Given the description of an element on the screen output the (x, y) to click on. 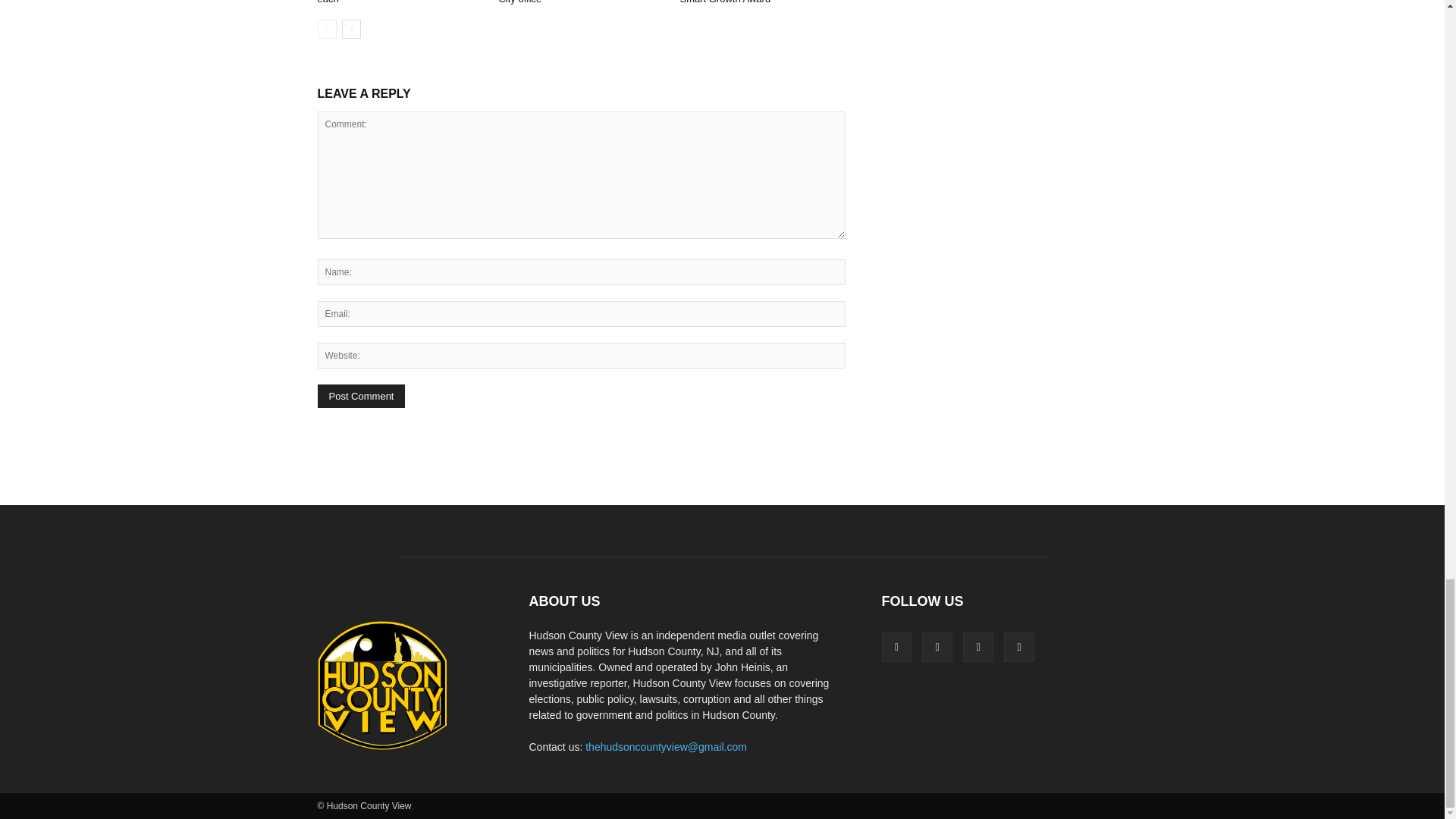
Post Comment (360, 395)
